Given the description of an element on the screen output the (x, y) to click on. 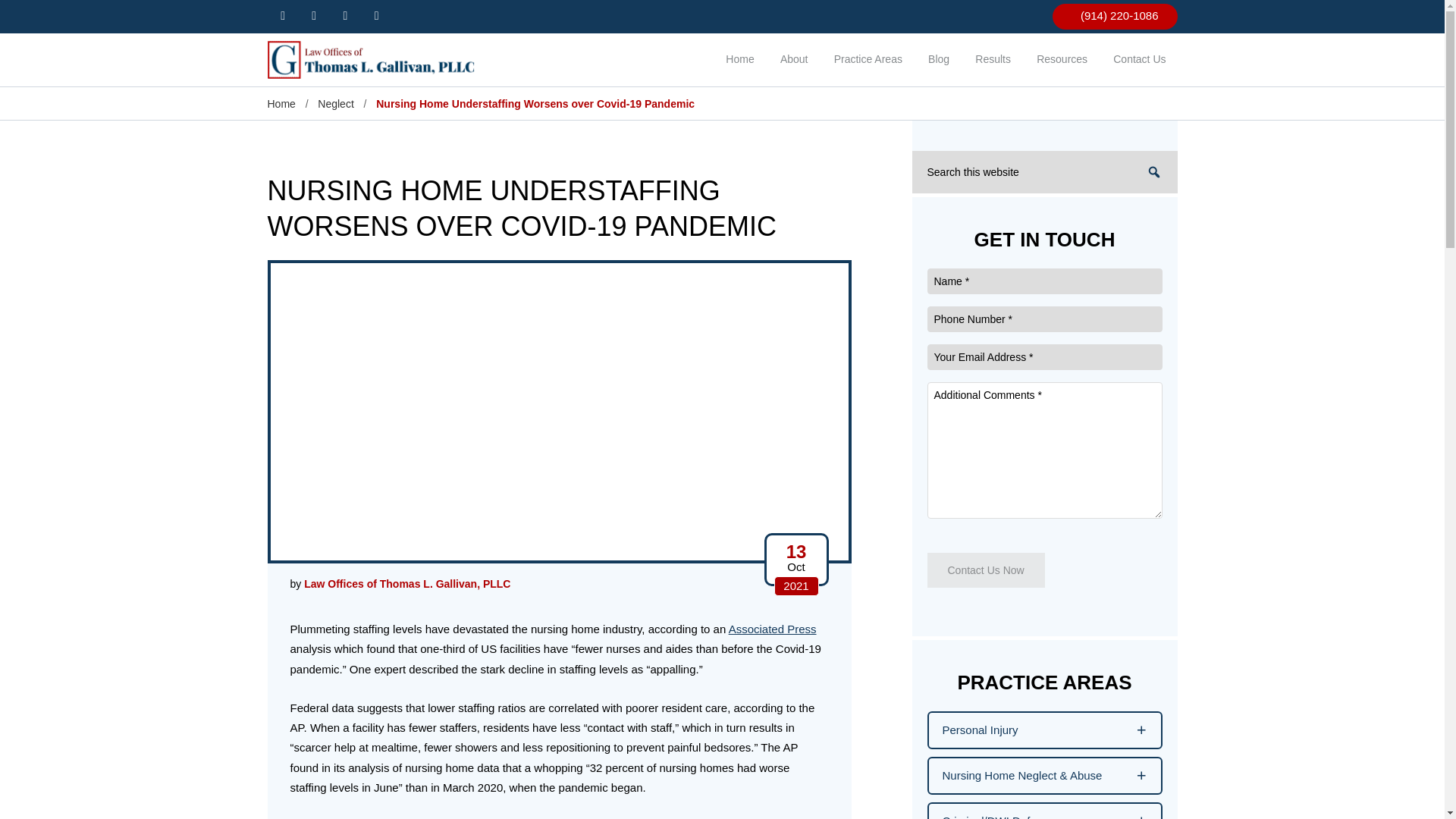
LAW OFFICES OF THOMAS L. GALLIVAN, PLLC (376, 59)
Practice Areas (867, 60)
Linkedin (376, 15)
Facebook alt (282, 15)
Contact Us Now (984, 570)
Youtube (345, 15)
Twitter (314, 15)
